Given the description of an element on the screen output the (x, y) to click on. 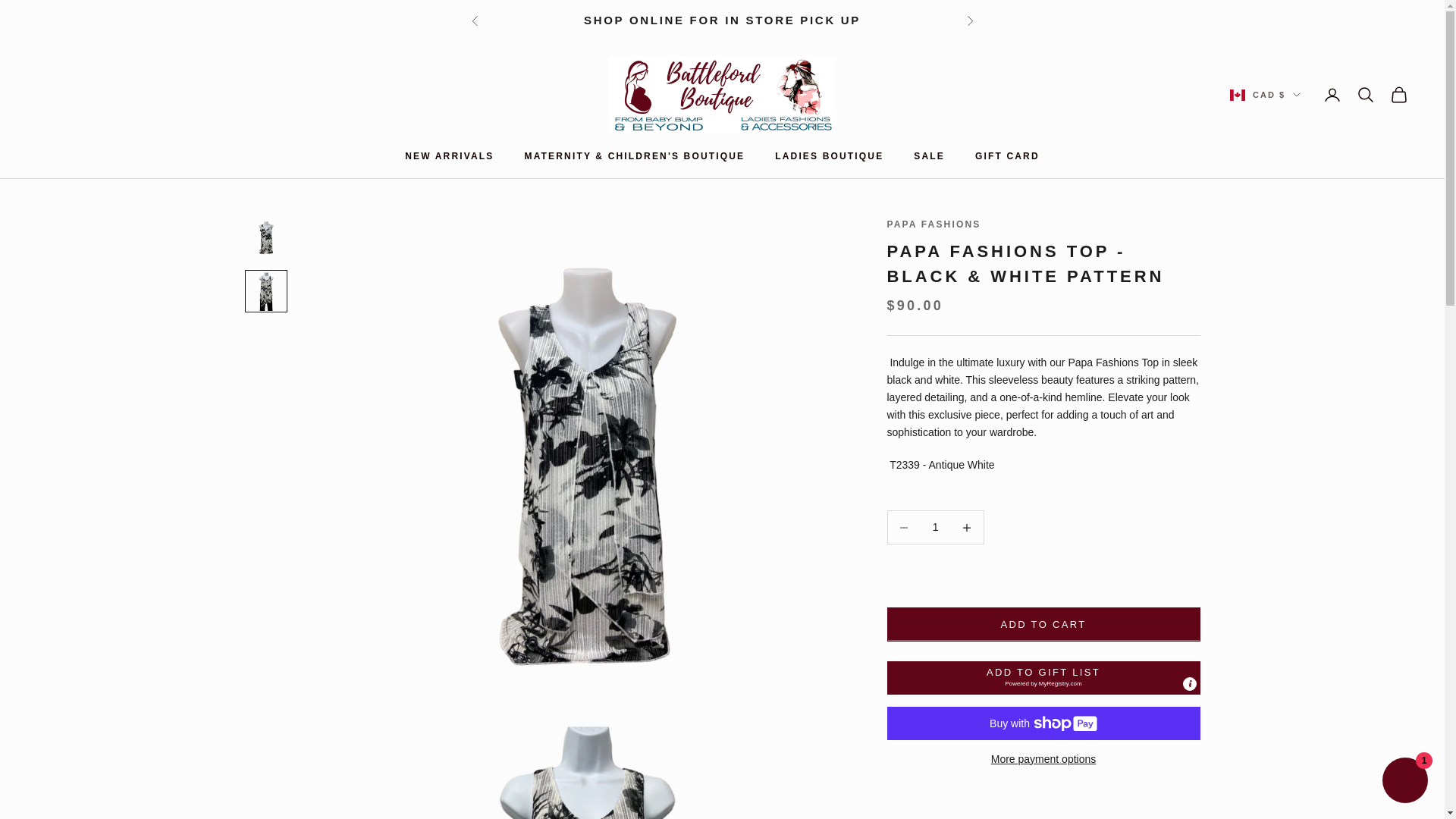
1 (935, 527)
Shopify online store chat (1404, 781)
NEW ARRIVALS (448, 155)
Battleford Boutique (721, 95)
